Given the description of an element on the screen output the (x, y) to click on. 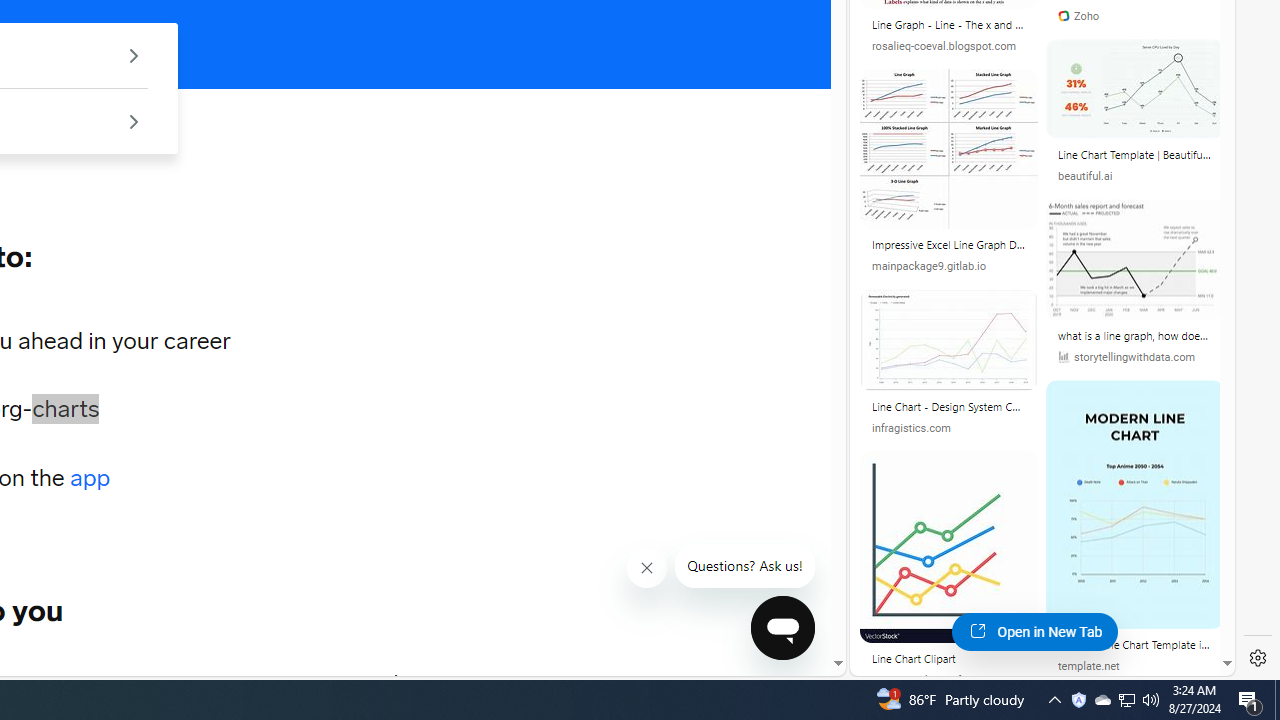
Close message from company (647, 567)
rosalieq-coeval.blogspot.com (948, 46)
Class: sc-1uf0igr-1 fjHZYk (646, 568)
Line Graph - Line - The x and y axis are used to. (948, 27)
Questions? Ask us! (745, 566)
Image result for Line Chart (1134, 504)
Open messaging window (783, 628)
app (90, 477)
Image result for Line Chart (1134, 504)
proper-cooking.info (948, 679)
Line Chart Clipartproper-cooking.info (949, 576)
